Given the description of an element on the screen output the (x, y) to click on. 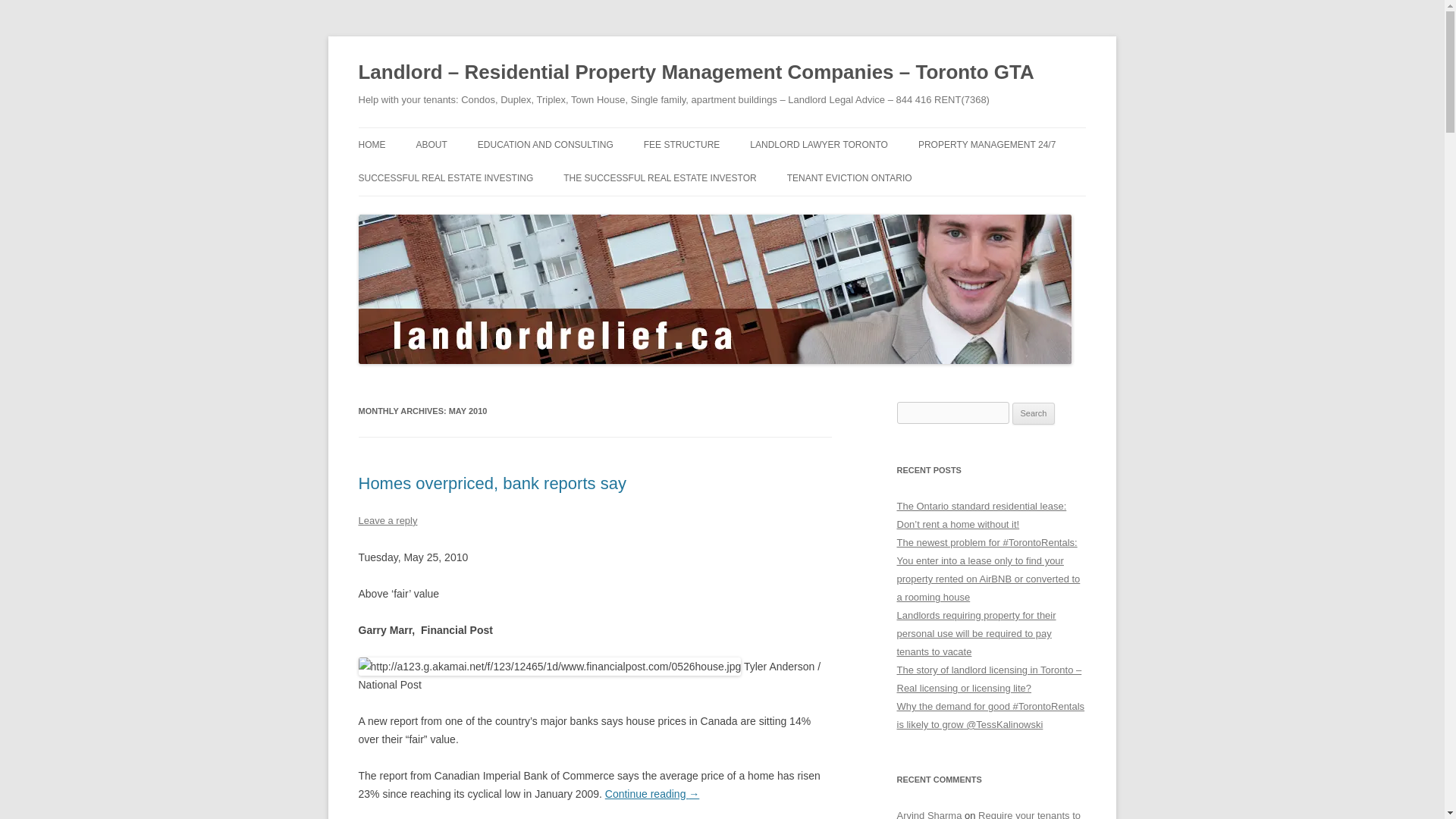
MORTGAGE METHODS (433, 210)
TENANT EVICTION ONTARIO (849, 177)
SUCCESSFUL REAL ESTATE INVESTING (445, 177)
THE SUCCESSFUL REAL ESTATE INVESTOR (660, 177)
ENSURING HIGH OCCUPANCY (994, 176)
APPEALING YOUR PROPERTY TAXES IN ONTARIO (552, 185)
Search (1033, 413)
Leave a reply (387, 520)
EDUCATION AND CONSULTING (544, 144)
FEE STRUCTURE (681, 144)
Homes overpriced, bank reports say (492, 483)
LANDLORD LAWYER TORONTO (818, 144)
ABOUT (430, 144)
